Given the description of an element on the screen output the (x, y) to click on. 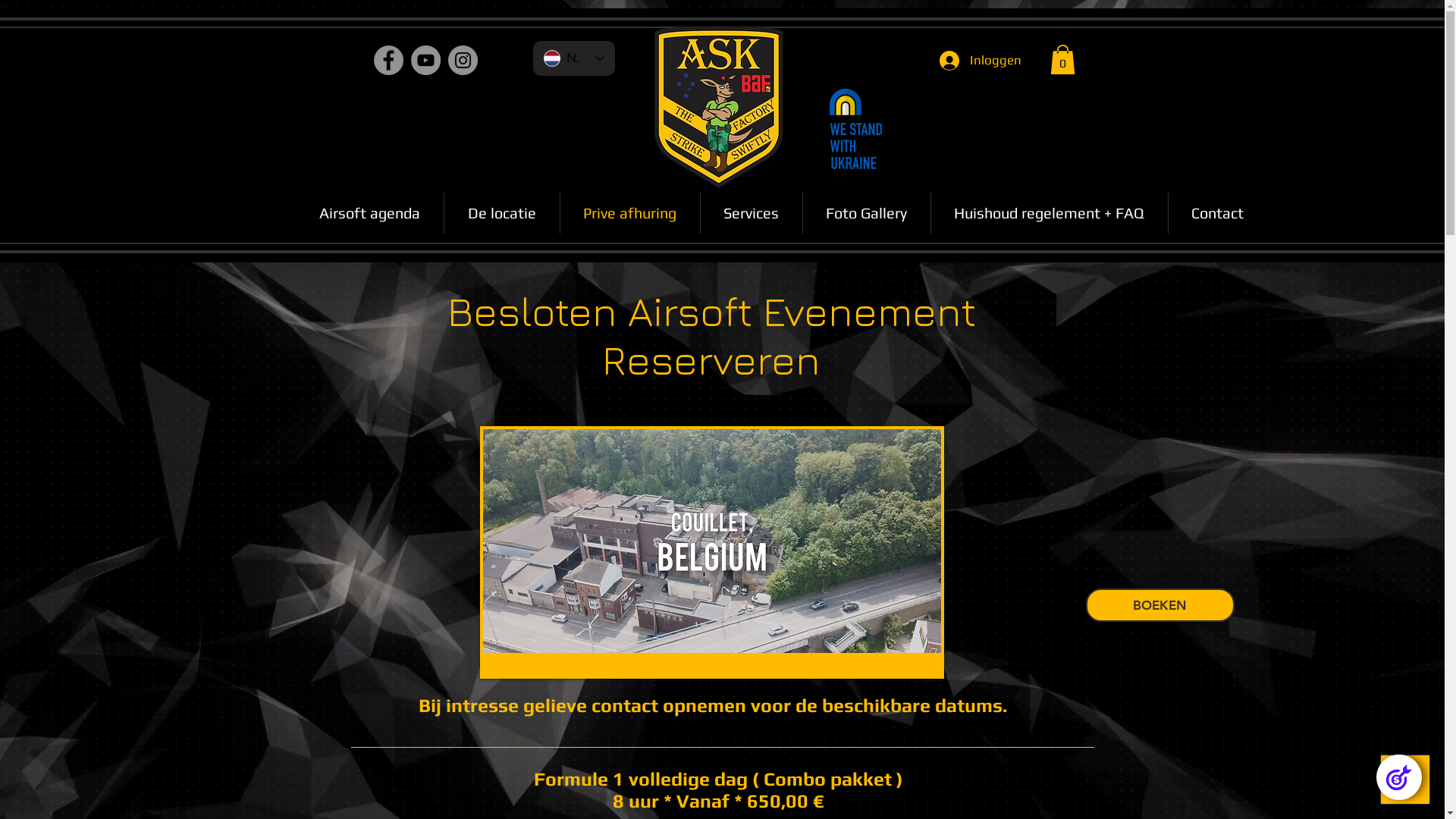
Services Element type: text (751, 212)
0 Element type: text (1061, 59)
BOEKEN Element type: text (1159, 604)
De locatie Element type: text (501, 212)
Inloggen Element type: text (979, 59)
Prive afhuring Element type: text (629, 212)
Foto Gallery Element type: text (865, 212)
Contact Element type: text (1216, 212)
Huishoud regelement + FAQ Element type: text (1049, 212)
Airsoft agenda Element type: text (369, 212)
